Given the description of an element on the screen output the (x, y) to click on. 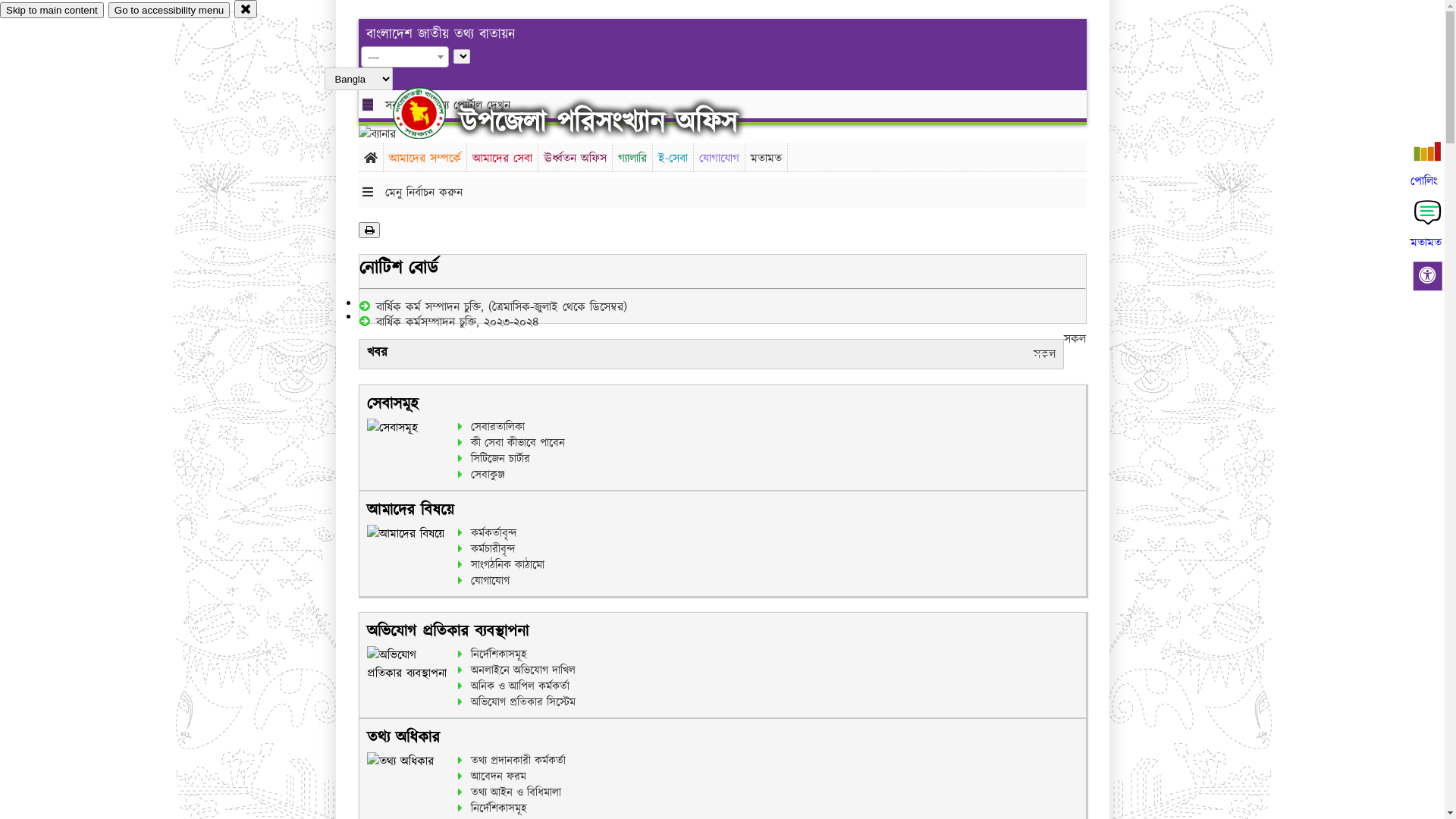

                
             Element type: hover (431, 112)
Go to accessibility menu Element type: text (168, 10)
close Element type: hover (245, 9)
Skip to main content Element type: text (51, 10)
